Given the description of an element on the screen output the (x, y) to click on. 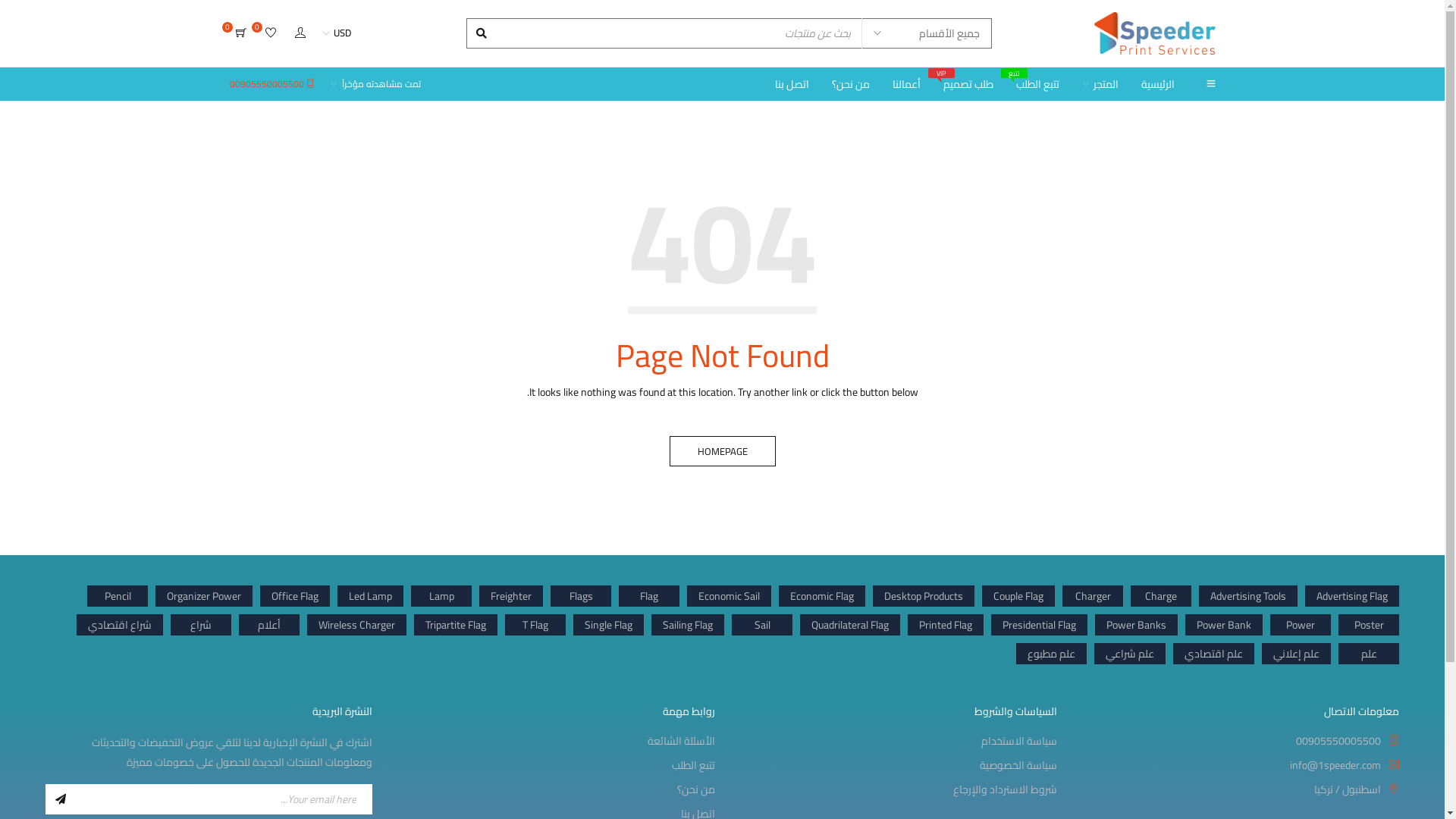
Tripartite Flag Element type: text (455, 624)
0 Element type: text (240, 33)
Sailing Flag Element type: text (687, 624)
Economic Flag Element type: text (821, 595)
Printed Flag Element type: text (945, 624)
Search Element type: hover (482, 32)
Advertising Flag Element type: text (1352, 595)
Couple Flag Element type: text (1018, 595)
Lamp Element type: text (441, 595)
Economic Sail Element type: text (729, 595)
Flag Element type: text (648, 595)
Charger Element type: text (1092, 595)
Quadrilateral Flag Element type: text (850, 624)
Power Banks Element type: text (1136, 624)
USD Element type: text (335, 33)
Wireless Charger Element type: text (356, 624)
T Flag Element type: text (535, 624)
Freighter Element type: text (510, 595)
Poster Element type: text (1368, 624)
Power Bank Element type: text (1223, 624)
HOMEPAGE Element type: text (721, 451)
Flags Element type: text (580, 595)
Single Flag Element type: text (608, 624)
Led Lamp Element type: text (370, 595)
Search Element type: text (482, 32)
Desktop Products Element type: text (923, 595)
One Speeder Element type: hover (1153, 33)
Presidential Flag Element type: text (1039, 624)
0 Element type: text (270, 33)
Pencil Element type: text (117, 595)
SIGN UP Element type: text (60, 799)
Charge Element type: text (1160, 595)
Organizer Power Element type: text (203, 595)
Sail Element type: text (761, 624)
Advertising Tools Element type: text (1247, 595)
Power Element type: text (1300, 624)
Office Flag Element type: text (294, 595)
